Given the description of an element on the screen output the (x, y) to click on. 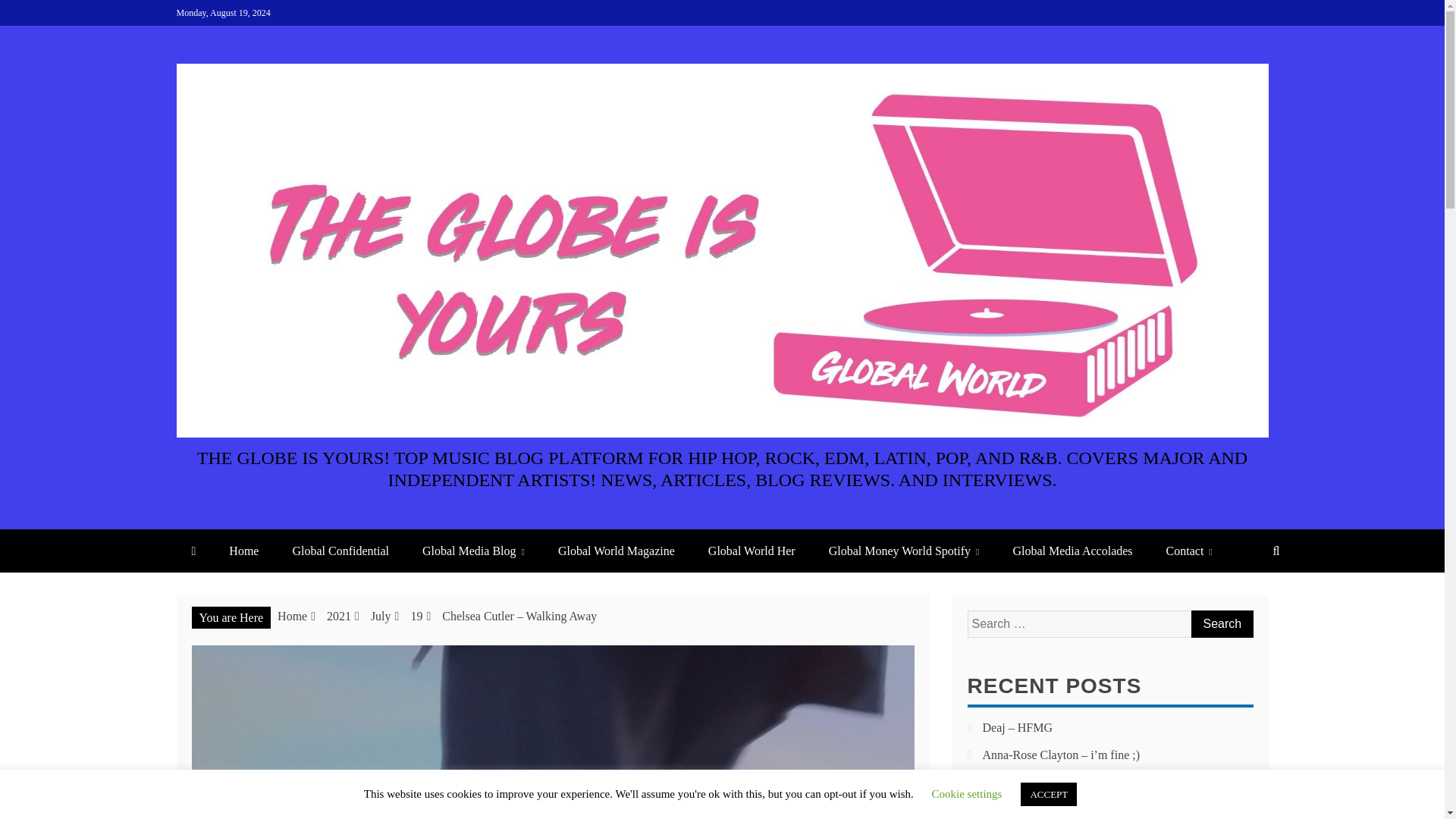
Global Confidential (340, 550)
Global World Her (751, 550)
Home (292, 615)
July (381, 615)
19 (416, 615)
Global Media Blog (473, 550)
Global Media Accolades (1072, 550)
2021 (338, 615)
Global World Magazine (616, 550)
Global Money World Spotify (903, 550)
